Given the description of an element on the screen output the (x, y) to click on. 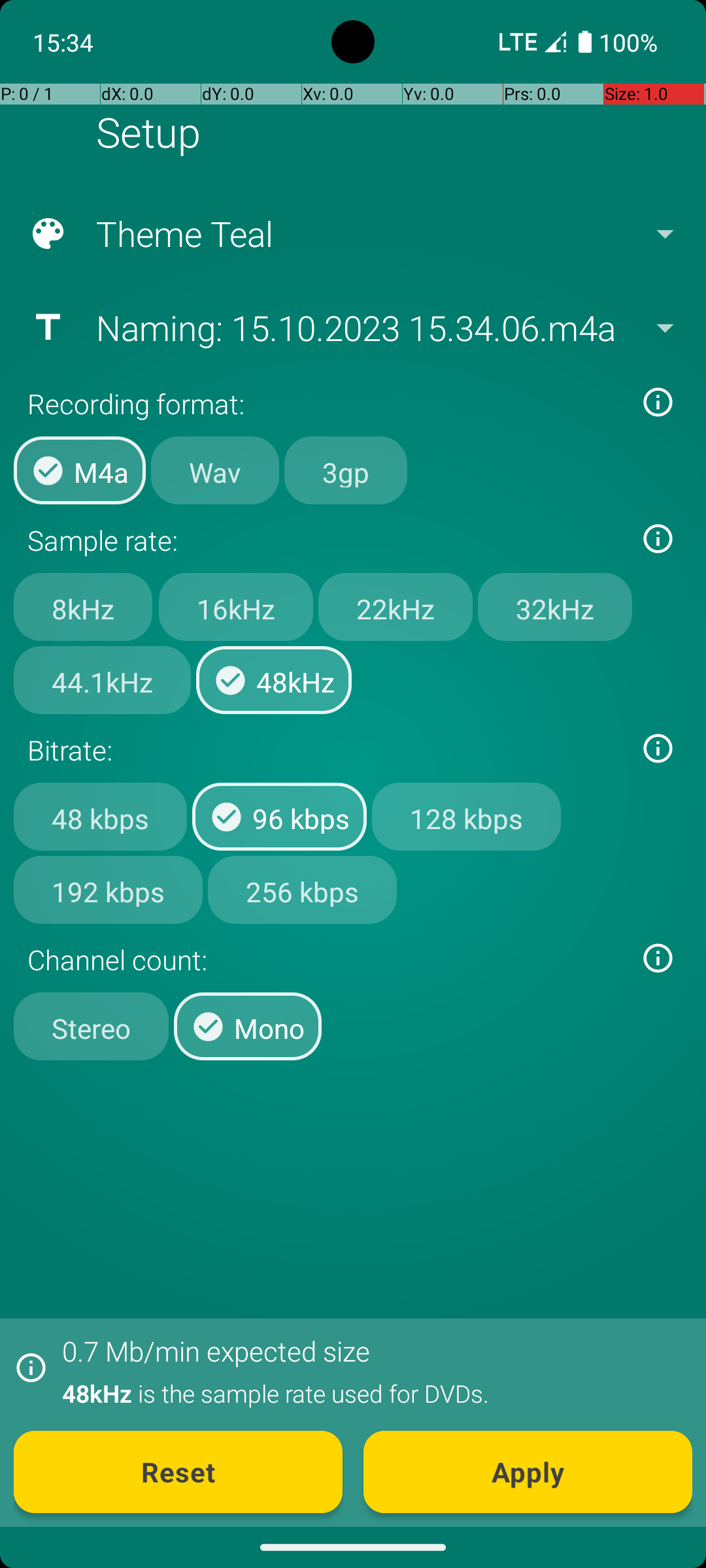
0.7 Mb/min expected size Element type: android.widget.TextView (215, 1350)
48kHz is the sample rate used for DVDs. Element type: android.widget.TextView (370, 1392)
Theme Teal Element type: android.widget.TextView (352, 233)
Naming: 15.10.2023 15.34.06.m4a Element type: android.widget.TextView (352, 327)
